Given the description of an element on the screen output the (x, y) to click on. 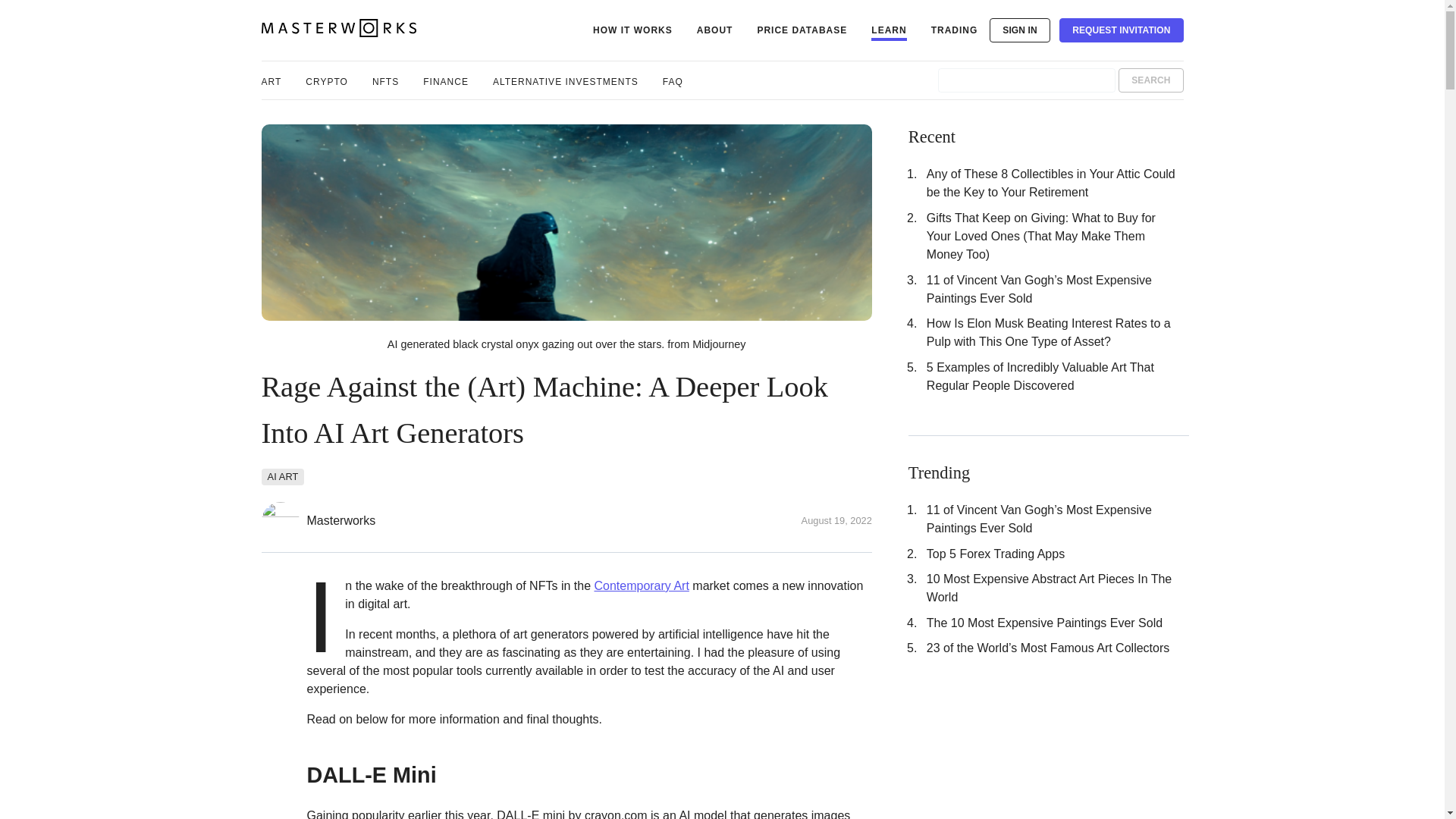
Contemporary Art (641, 585)
AI ART (282, 476)
CRYPTO (326, 80)
ALTERNATIVE INVESTMENTS (566, 80)
FAQ (672, 80)
ART (270, 80)
REQUEST INVITATION (1120, 30)
TRADING (954, 29)
PRICE DATABASE (802, 29)
SIGN IN (1019, 30)
FINANCE (445, 80)
LEARN (887, 29)
Search (1150, 79)
